Given the description of an element on the screen output the (x, y) to click on. 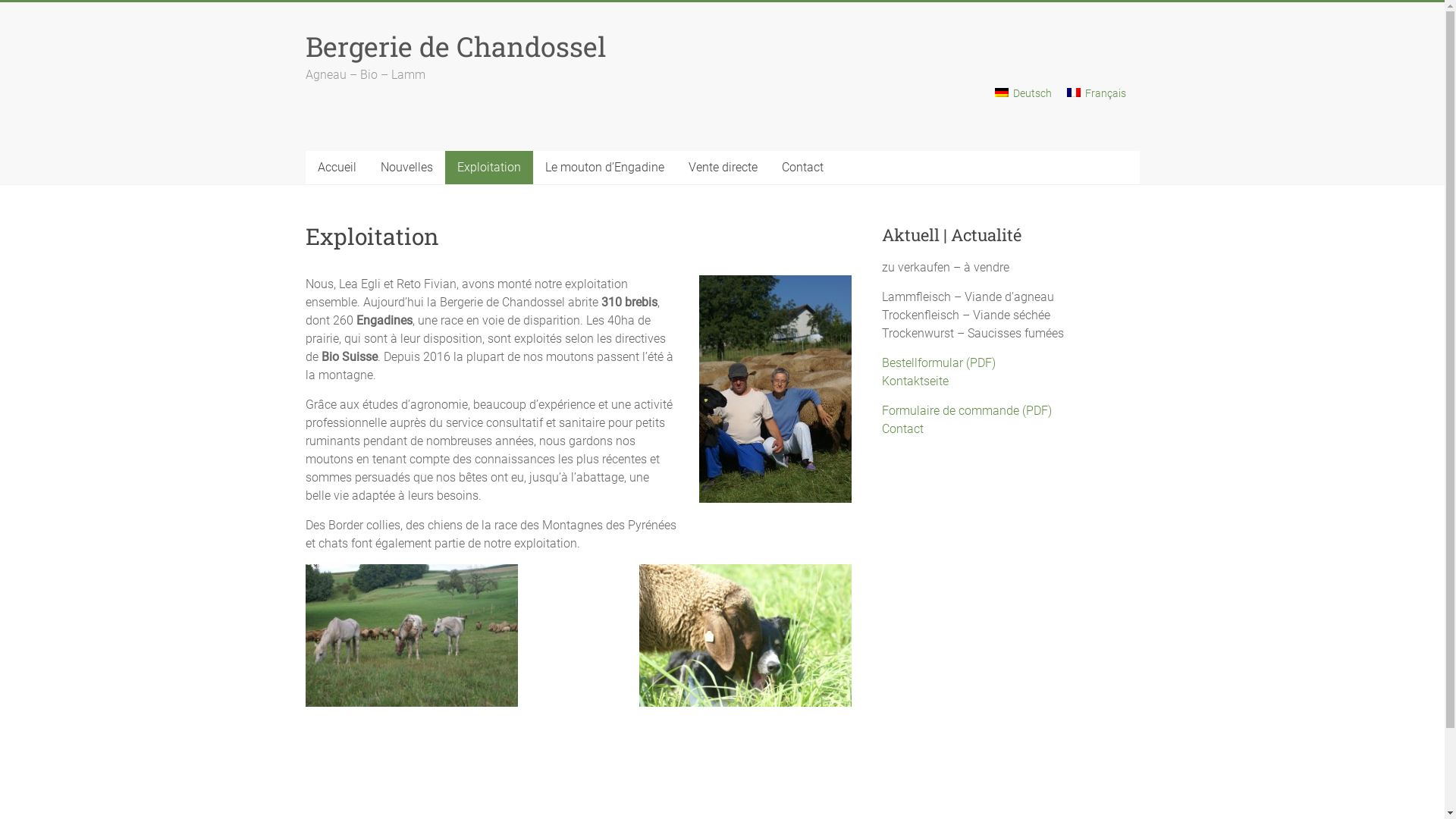
Contact Element type: text (801, 167)
Vente directe Element type: text (722, 167)
Formulaire de commande (PDF) Element type: text (966, 410)
Exploitation Element type: text (488, 167)
Accueil Element type: text (335, 167)
  Element type: text (305, 769)
Contact Element type: text (902, 428)
Bestellformular (PDF) Element type: text (938, 362)
Deutsch Element type: hover (1001, 92)
Bergerie de Chandossel Element type: text (454, 46)
Kontaktseite Element type: text (914, 380)
Deutsch Element type: text (1023, 99)
Nouvelles Element type: text (406, 167)
